Given the description of an element on the screen output the (x, y) to click on. 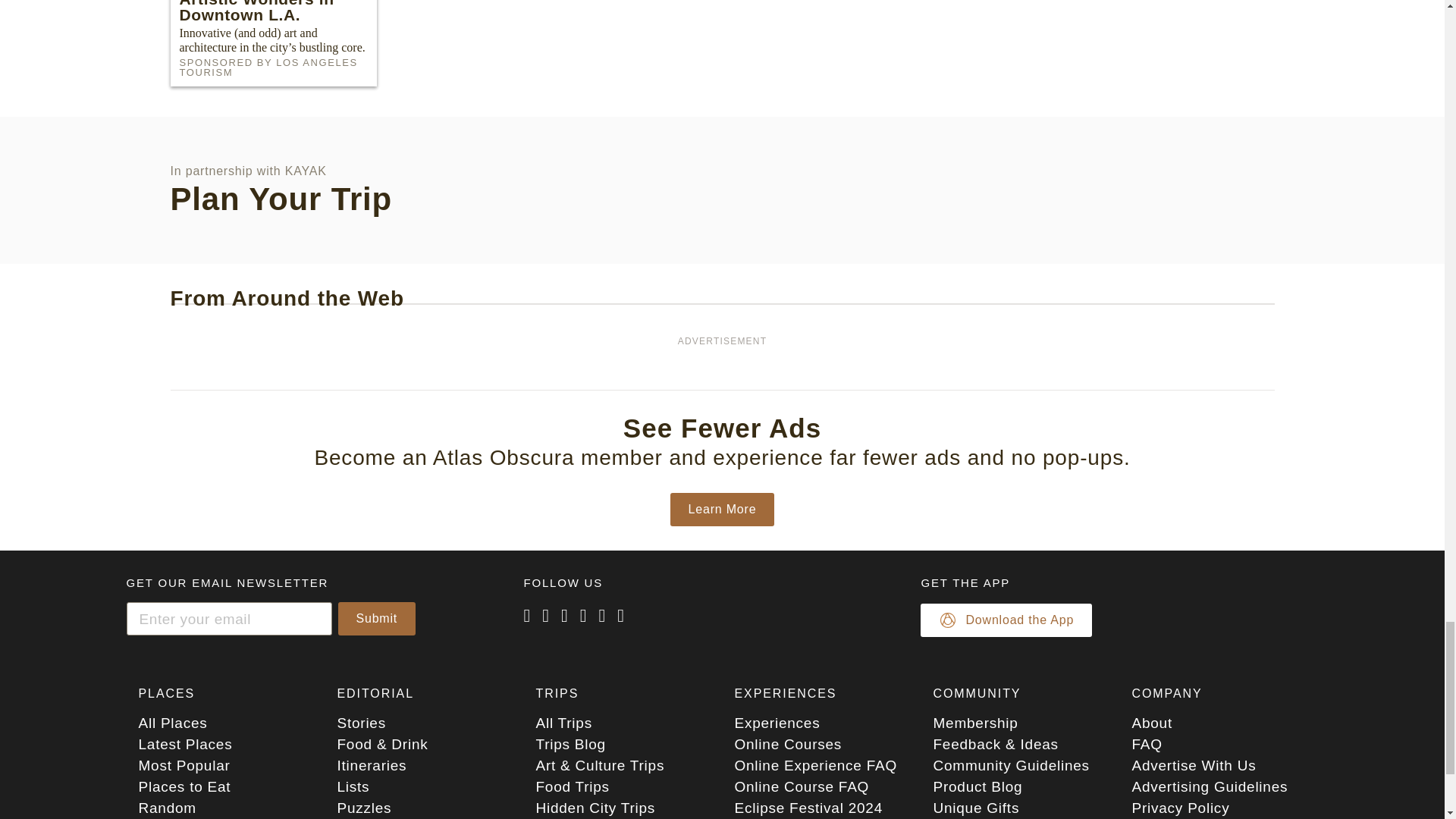
Submit (376, 618)
